Given the description of an element on the screen output the (x, y) to click on. 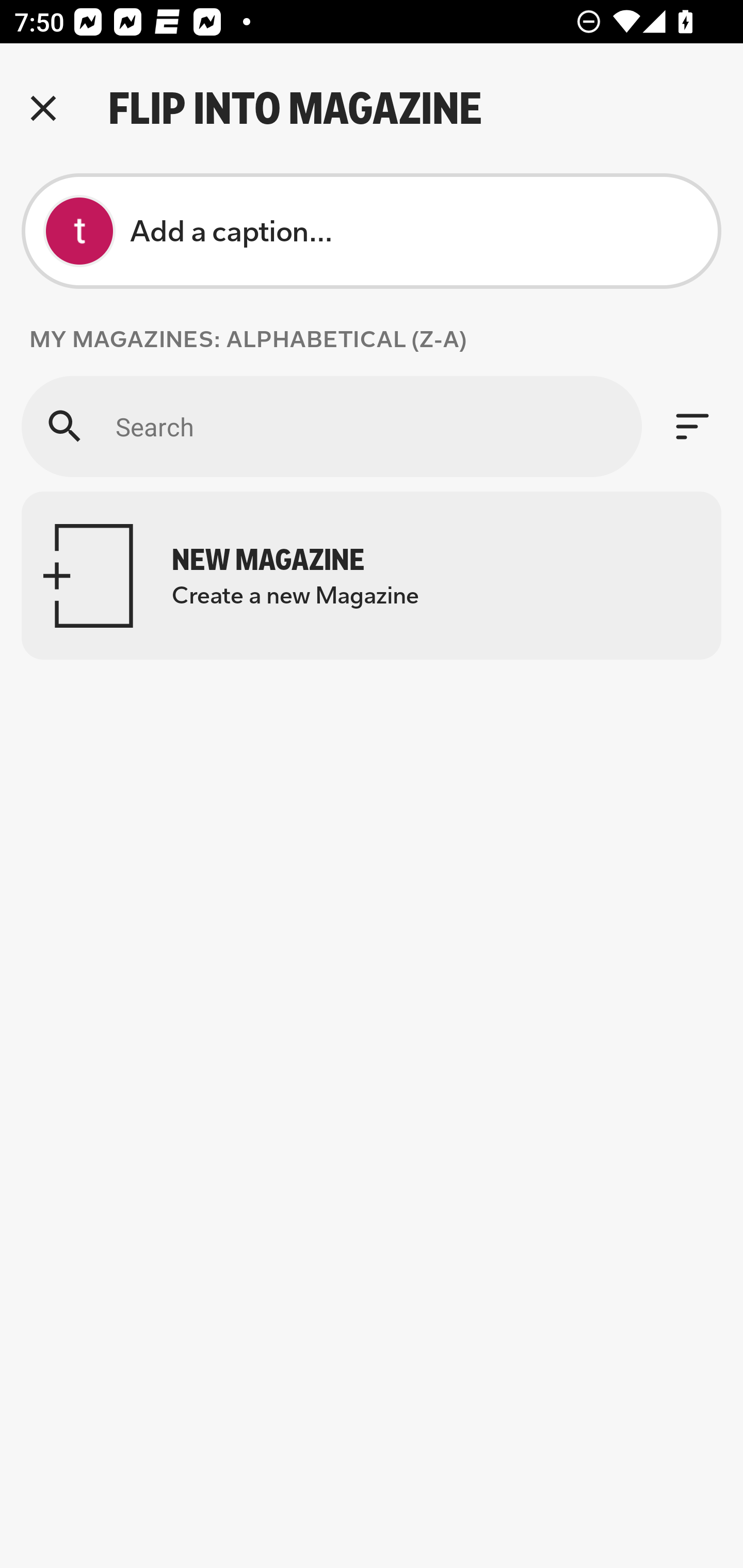
test appium Add a caption… (371, 231)
Search (331, 426)
NEW MAGAZINE Create a new Magazine (371, 575)
